Given the description of an element on the screen output the (x, y) to click on. 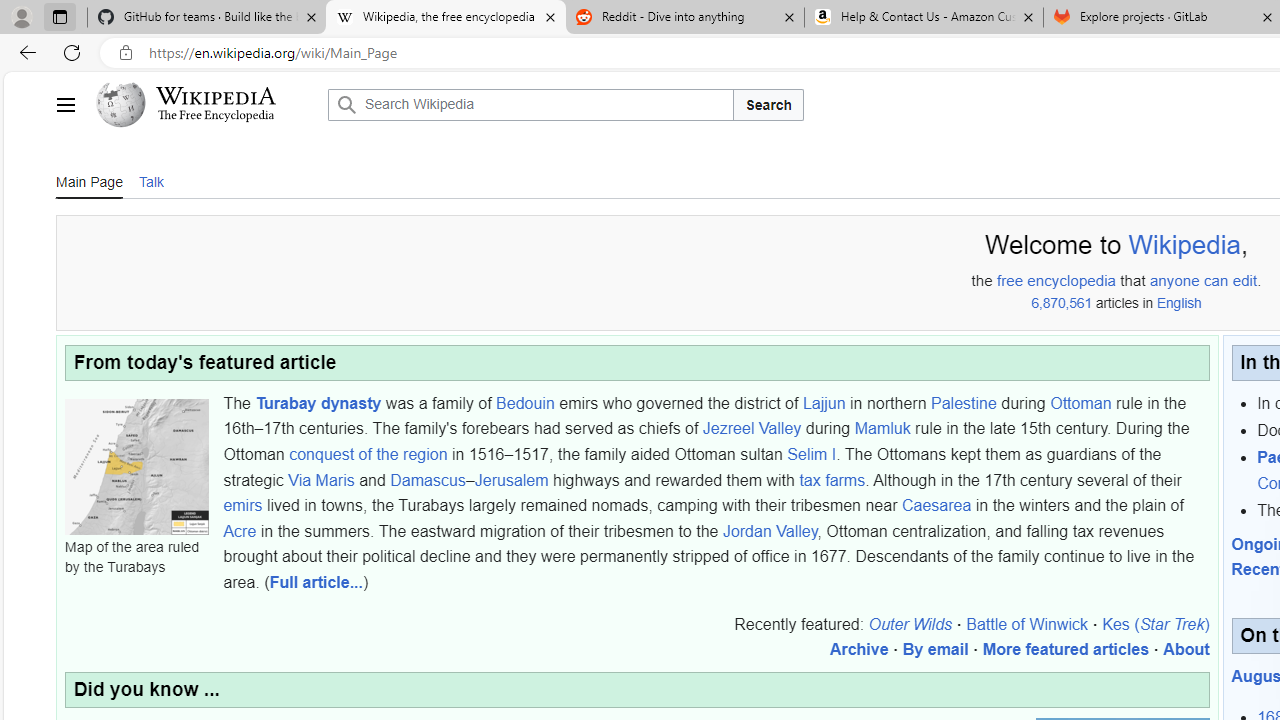
Ottoman (1080, 402)
Main Page (89, 181)
About (1186, 649)
Damascus (427, 479)
English (1178, 303)
Jordan Valley (769, 531)
Turabay dynasty (317, 402)
Battle of Winwick (1027, 623)
Archive (859, 649)
Talk (150, 180)
Talk (150, 181)
More featured articles (1065, 649)
